Given the description of an element on the screen output the (x, y) to click on. 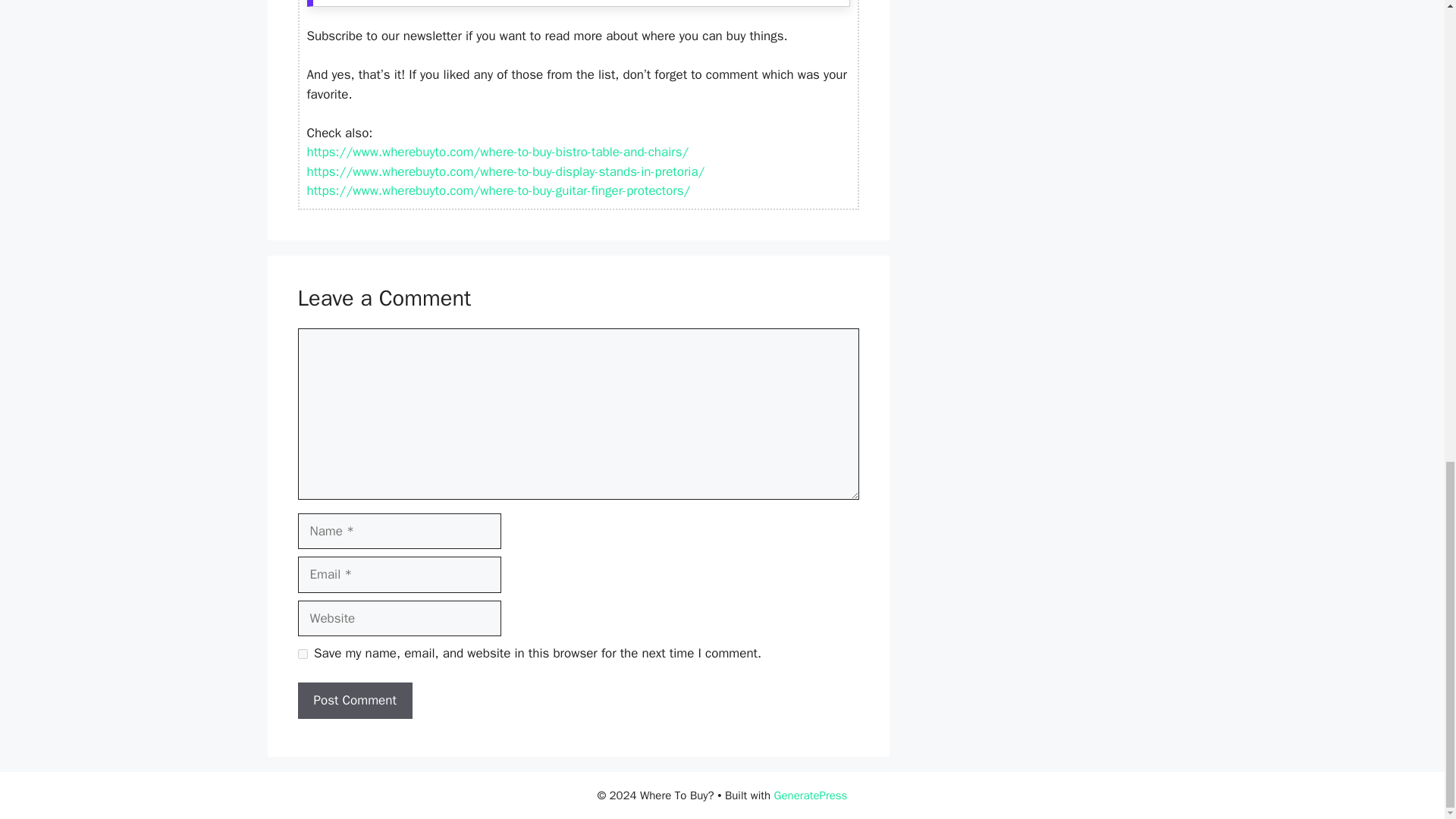
Post Comment (354, 700)
Post Comment (354, 700)
GeneratePress (810, 795)
yes (302, 654)
